Given the description of an element on the screen output the (x, y) to click on. 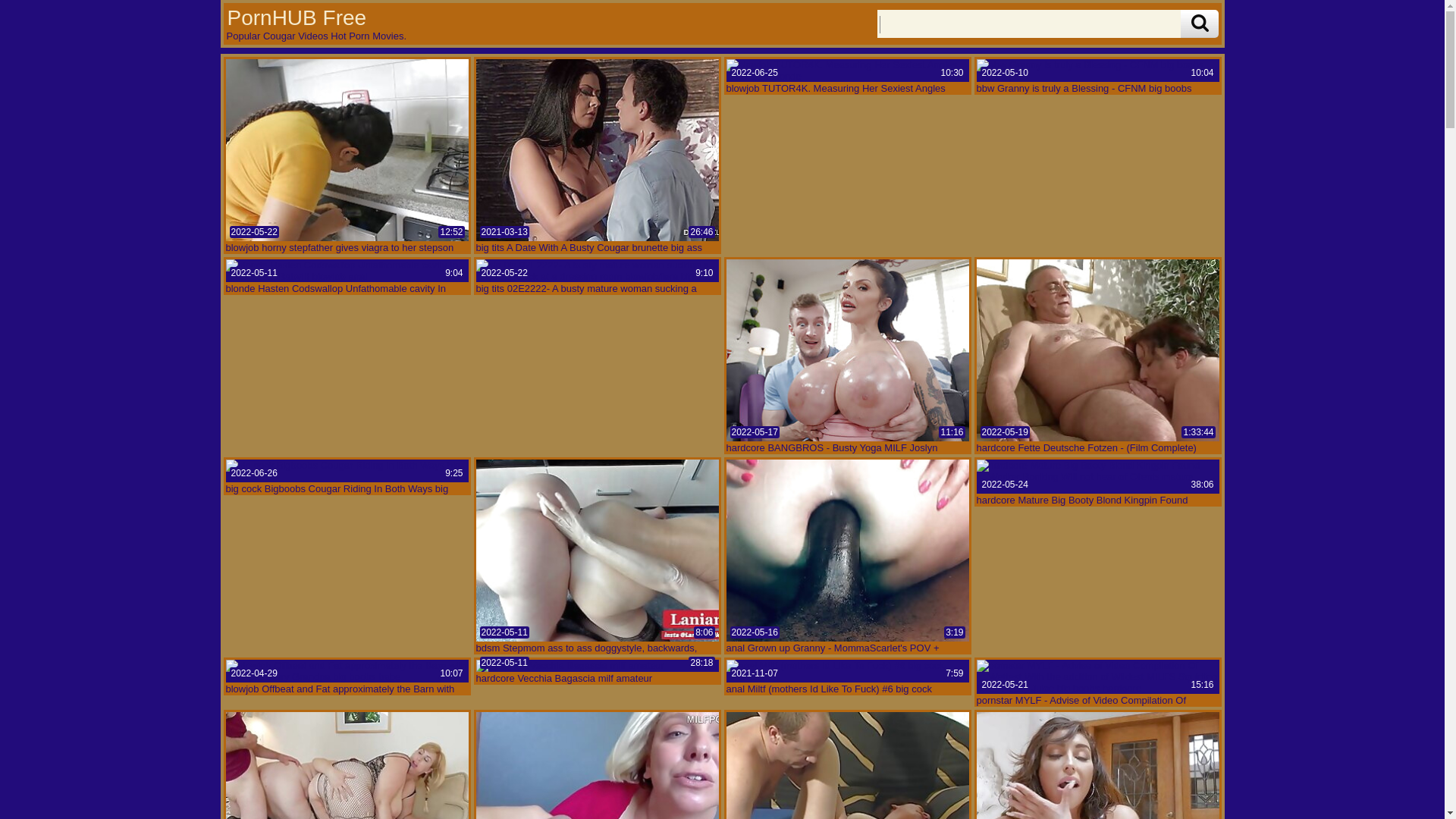
hardcore Vecchia Bagascia milf amateur Element type: text (597, 665)
big cock Bigboobs Cougar Riding In Both Ways big tits anal Element type: text (346, 470)
big tits A Date With A Busty Cougar brunette big ass Element type: text (597, 150)
bbw Granny is truly a Blessing - CFNM big boobs blowjob Element type: text (1097, 70)
anal Miltf (mothers Id Like To Fuck) #6 big cock american Element type: text (847, 670)
PornHUB Free Element type: text (295, 17)
blowjob TUTOR4K. Measuring Her Sexiest Angles mature blonde Element type: text (847, 70)
